Given the description of an element on the screen output the (x, y) to click on. 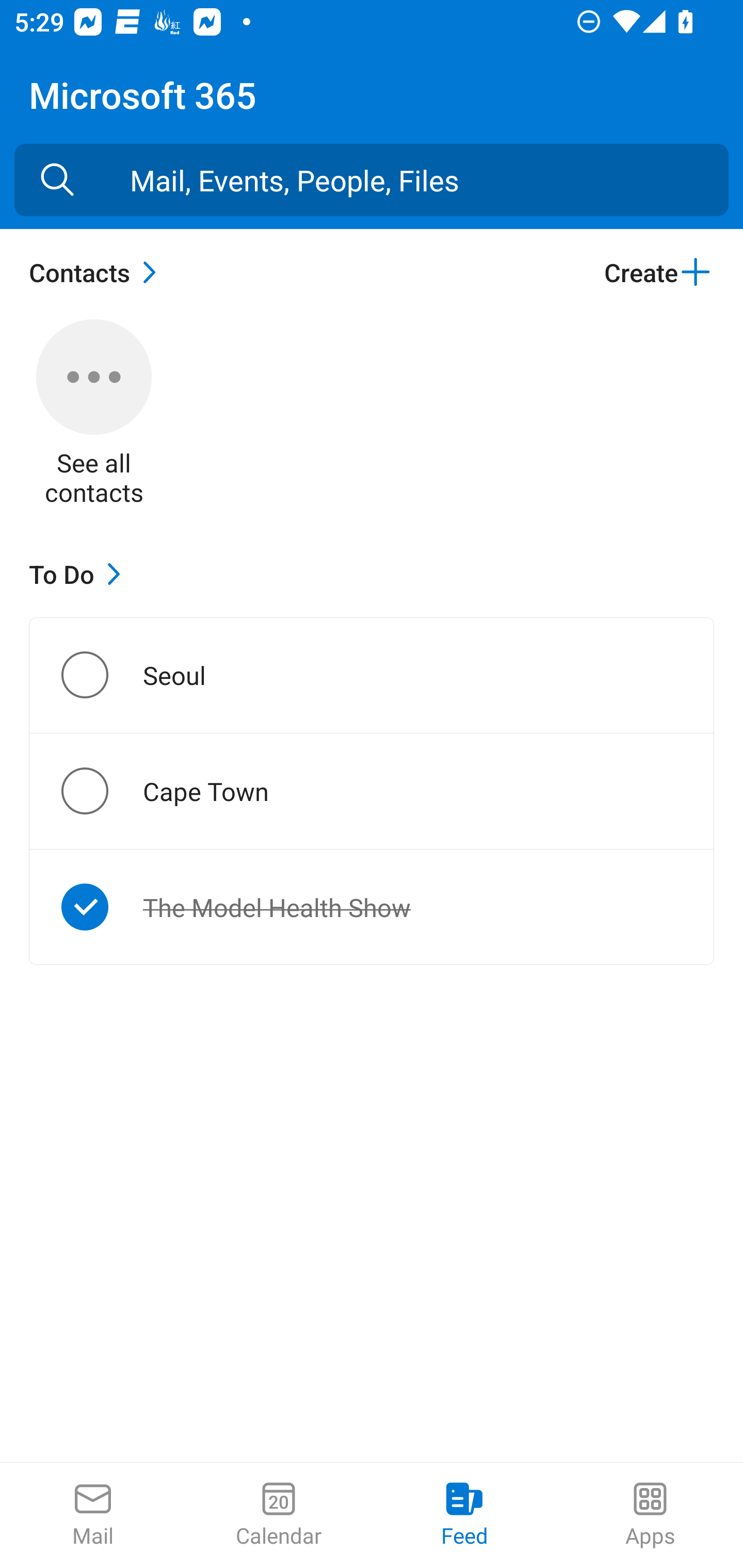
Search for Mail, Events, People, Files (57, 180)
Contacts (97, 271)
Create Create contact (658, 271)
See all contacts (93, 414)
To Do (79, 573)
Seoul Seoul Seoul. not completed (371, 674)
Seoul (101, 674)
Cape Town Cape Town Cape Town. not completed (371, 790)
Cape Town (101, 790)
The Model Health Show (101, 906)
Mail (92, 1515)
Calendar (278, 1515)
Apps (650, 1515)
